Given the description of an element on the screen output the (x, y) to click on. 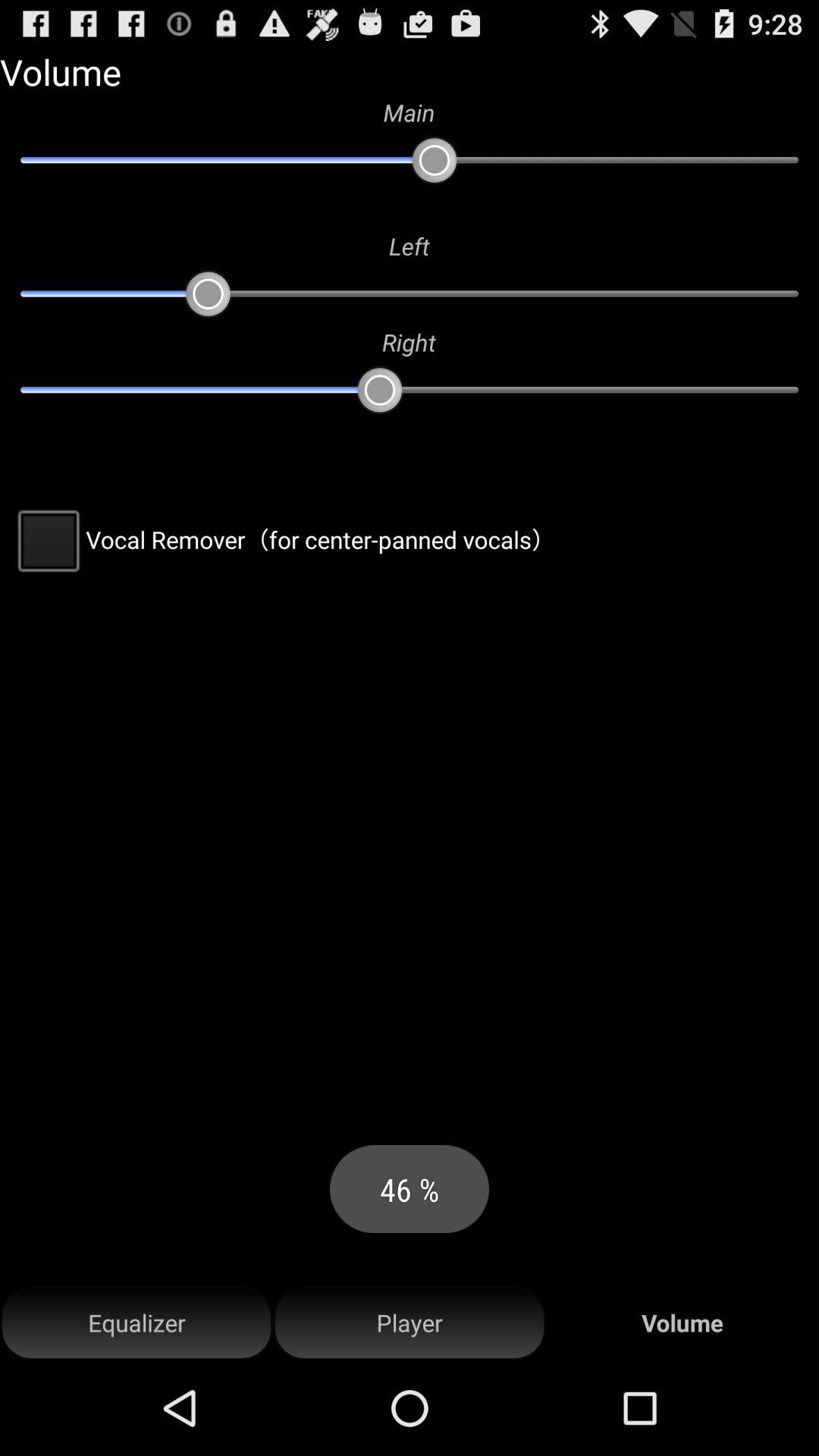
open the item next to volume icon (409, 1323)
